Given the description of an element on the screen output the (x, y) to click on. 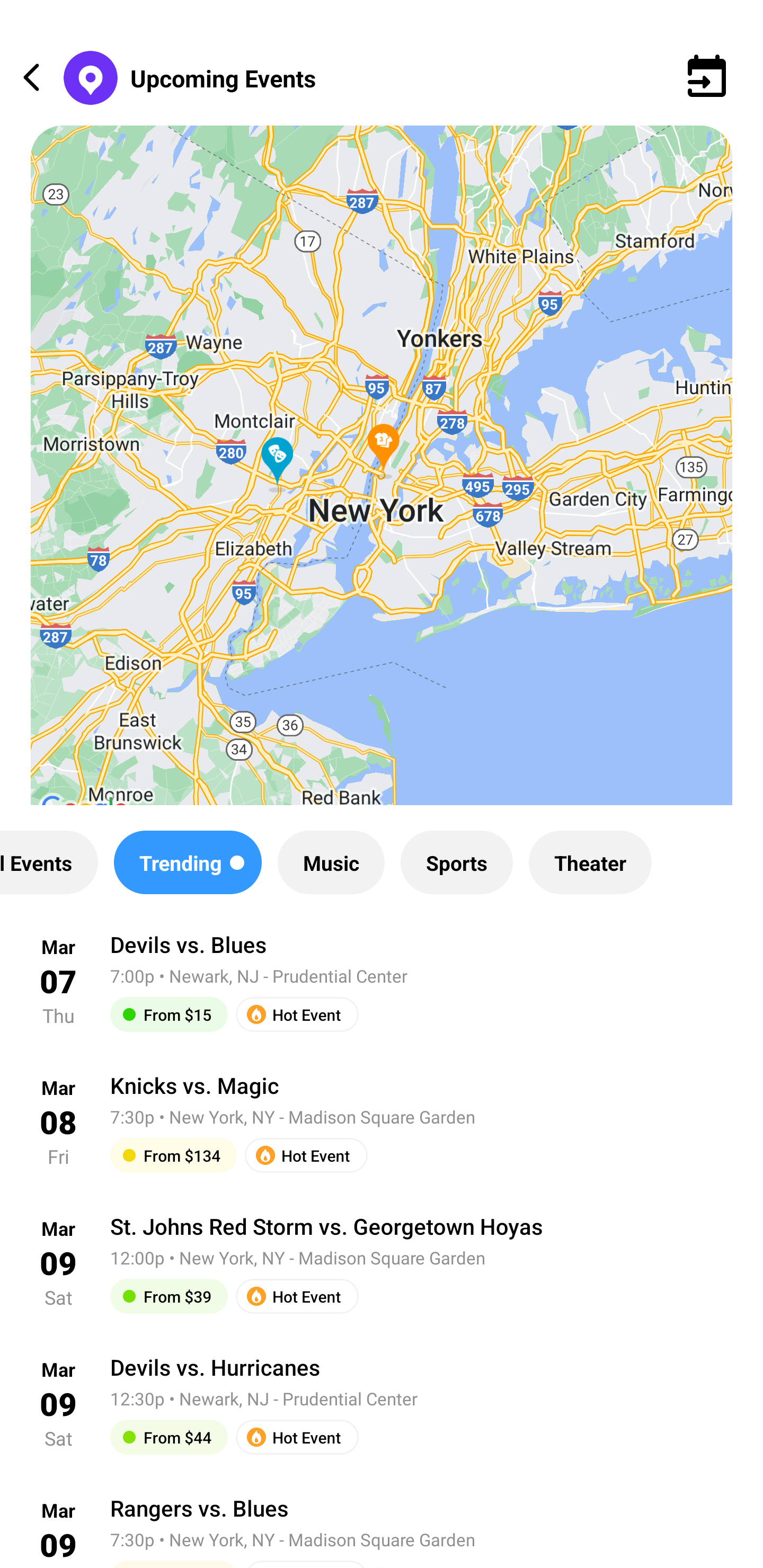
Google Map Map Marker Map Marker (381, 480)
Trending (187, 862)
Music (330, 862)
Sports (456, 862)
Theater (589, 862)
